Given the description of an element on the screen output the (x, y) to click on. 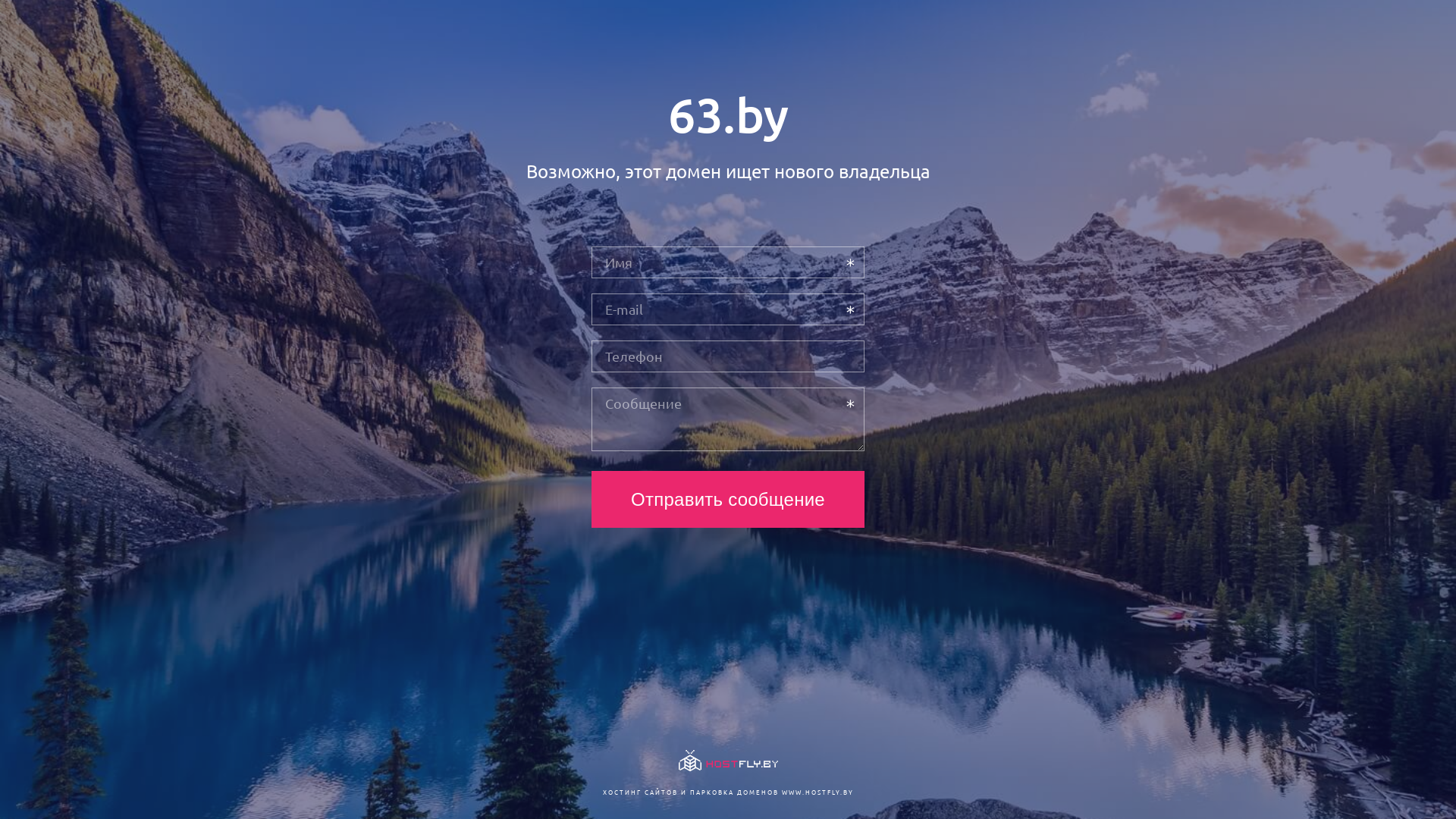
WWW.HOSTFLY.BY Element type: text (817, 791)
